Given the description of an element on the screen output the (x, y) to click on. 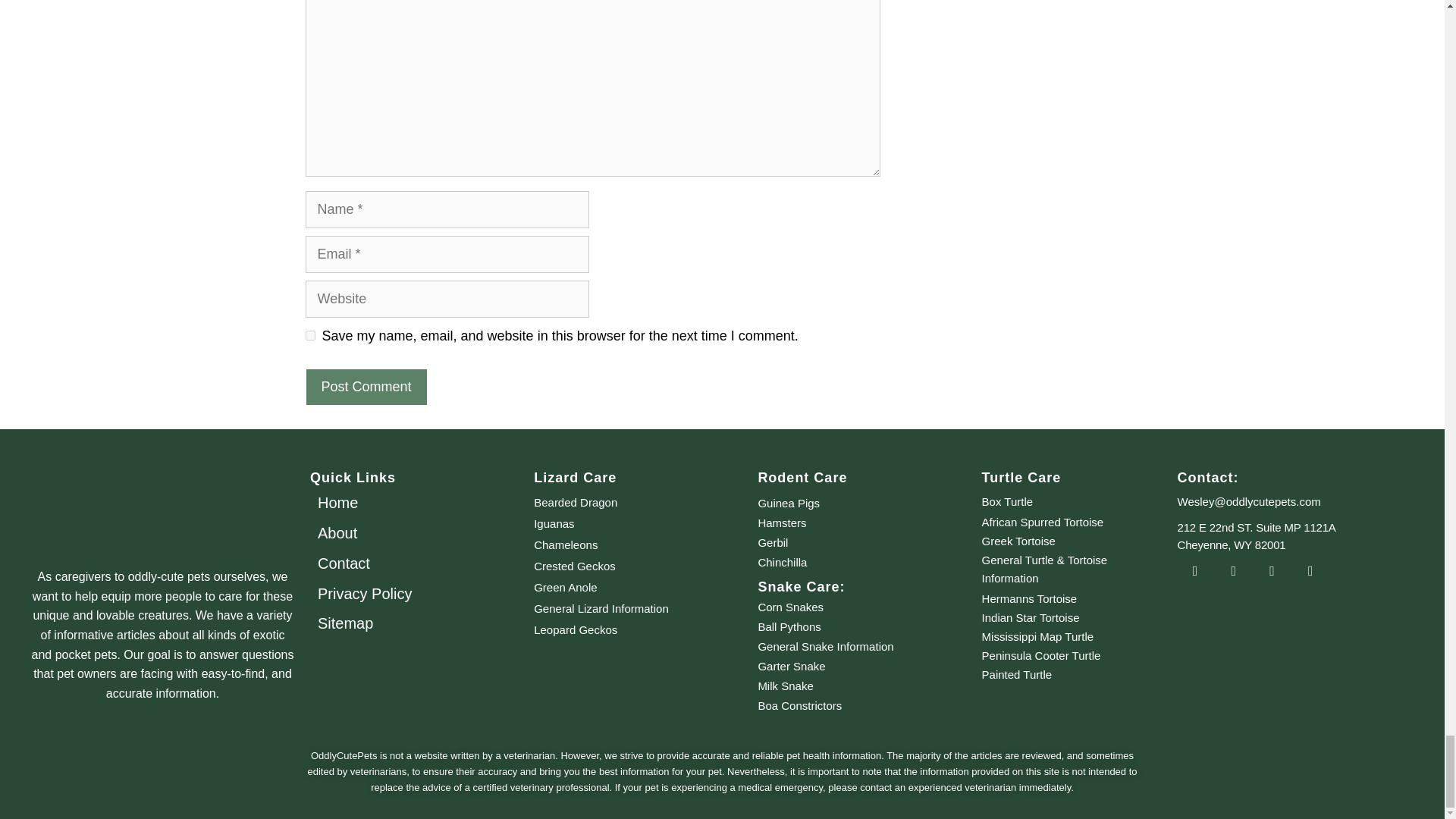
yes (309, 335)
Post Comment (365, 386)
